Given the description of an element on the screen output the (x, y) to click on. 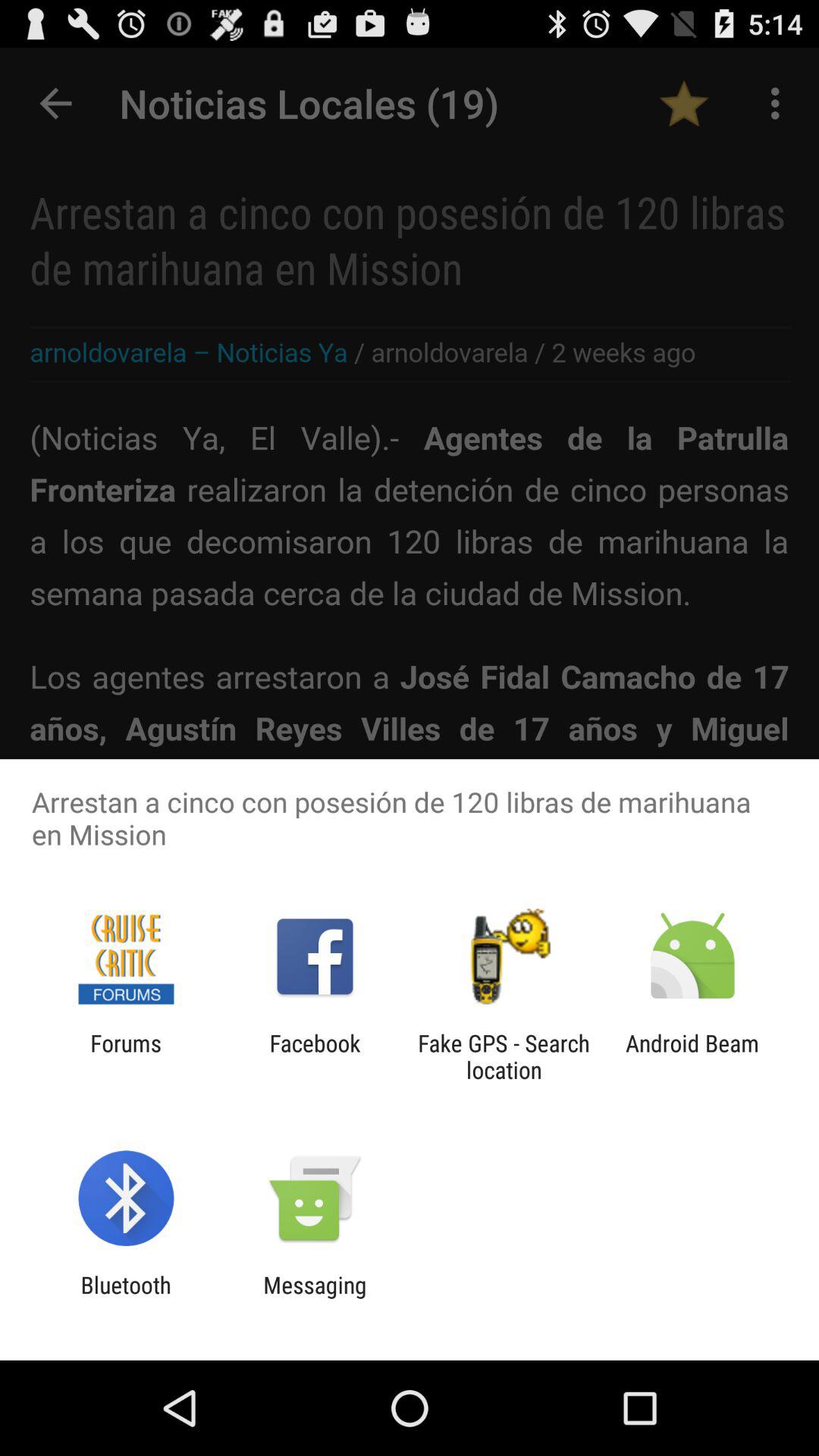
tap app next to fake gps search app (692, 1056)
